Given the description of an element on the screen output the (x, y) to click on. 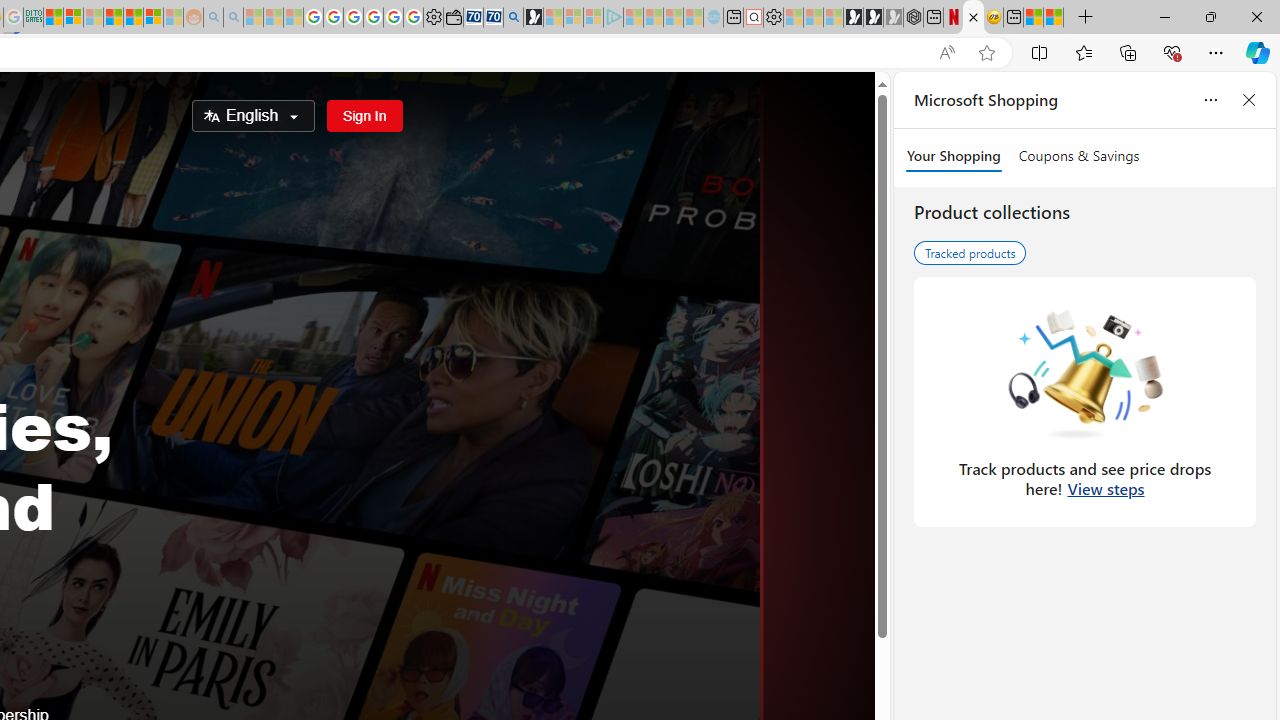
Wildlife - MSN (1033, 17)
Kinda Frugal - MSN (133, 17)
